Given the description of an element on the screen output the (x, y) to click on. 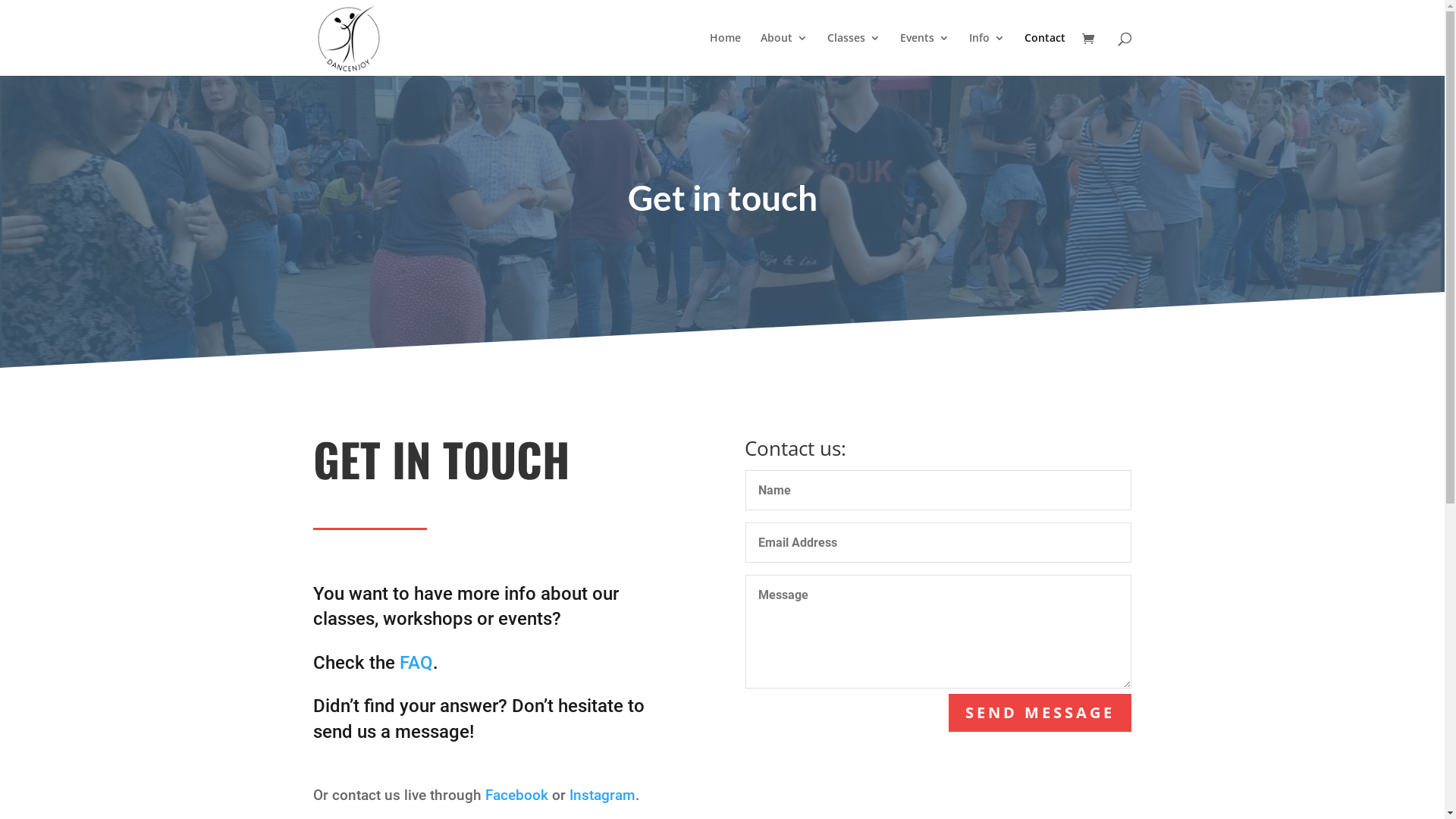
Home Element type: text (724, 53)
Instagram Element type: text (601, 794)
Facebook Element type: text (516, 794)
About Element type: text (782, 53)
Info Element type: text (986, 53)
Classes Element type: text (852, 53)
Contact Element type: text (1043, 53)
SEND MESSAGE Element type: text (1039, 712)
Events Element type: text (923, 53)
FAQ Element type: text (415, 662)
